Given the description of an element on the screen output the (x, y) to click on. 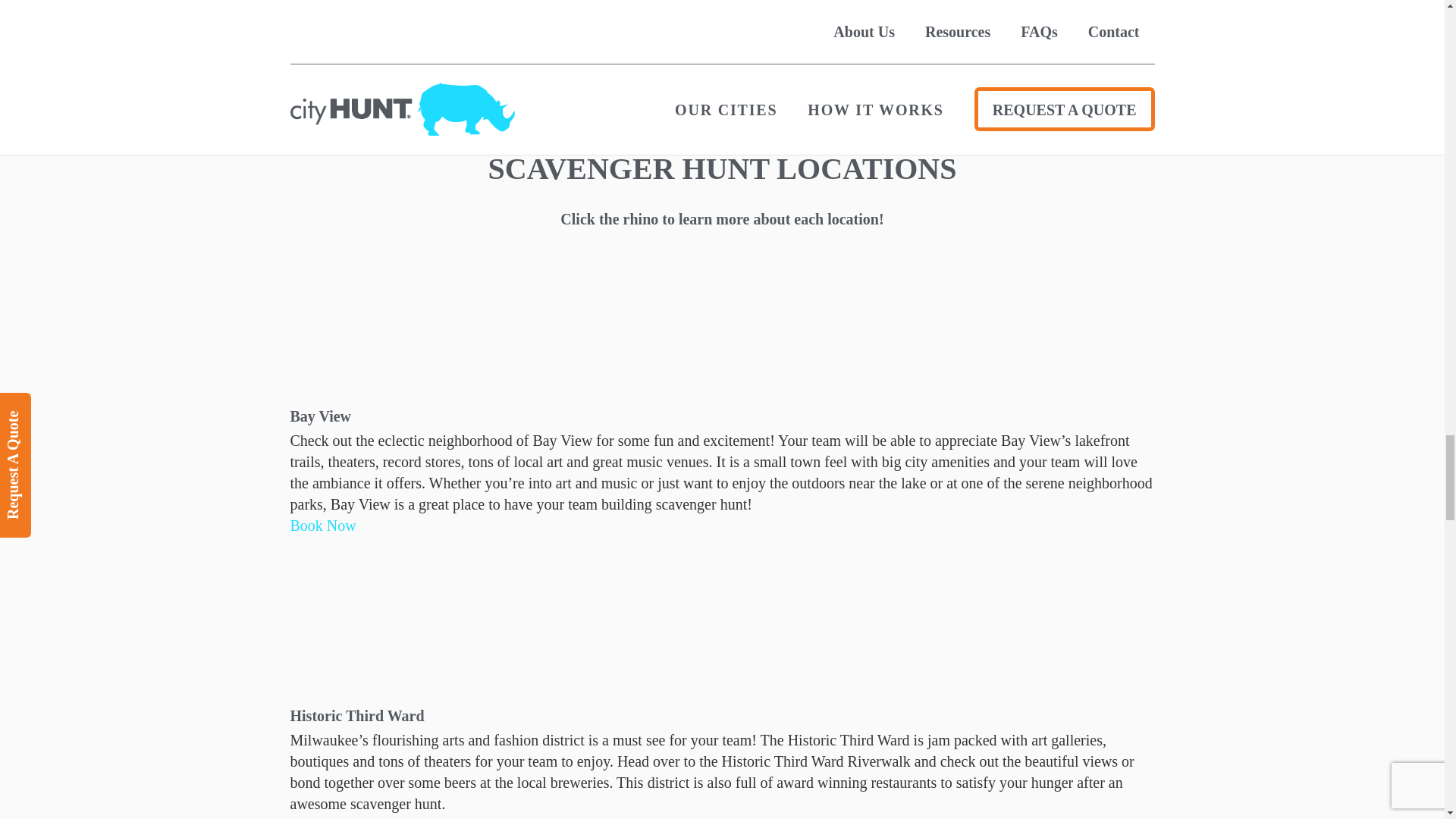
Book Now (322, 817)
Book Now (322, 524)
